Given the description of an element on the screen output the (x, y) to click on. 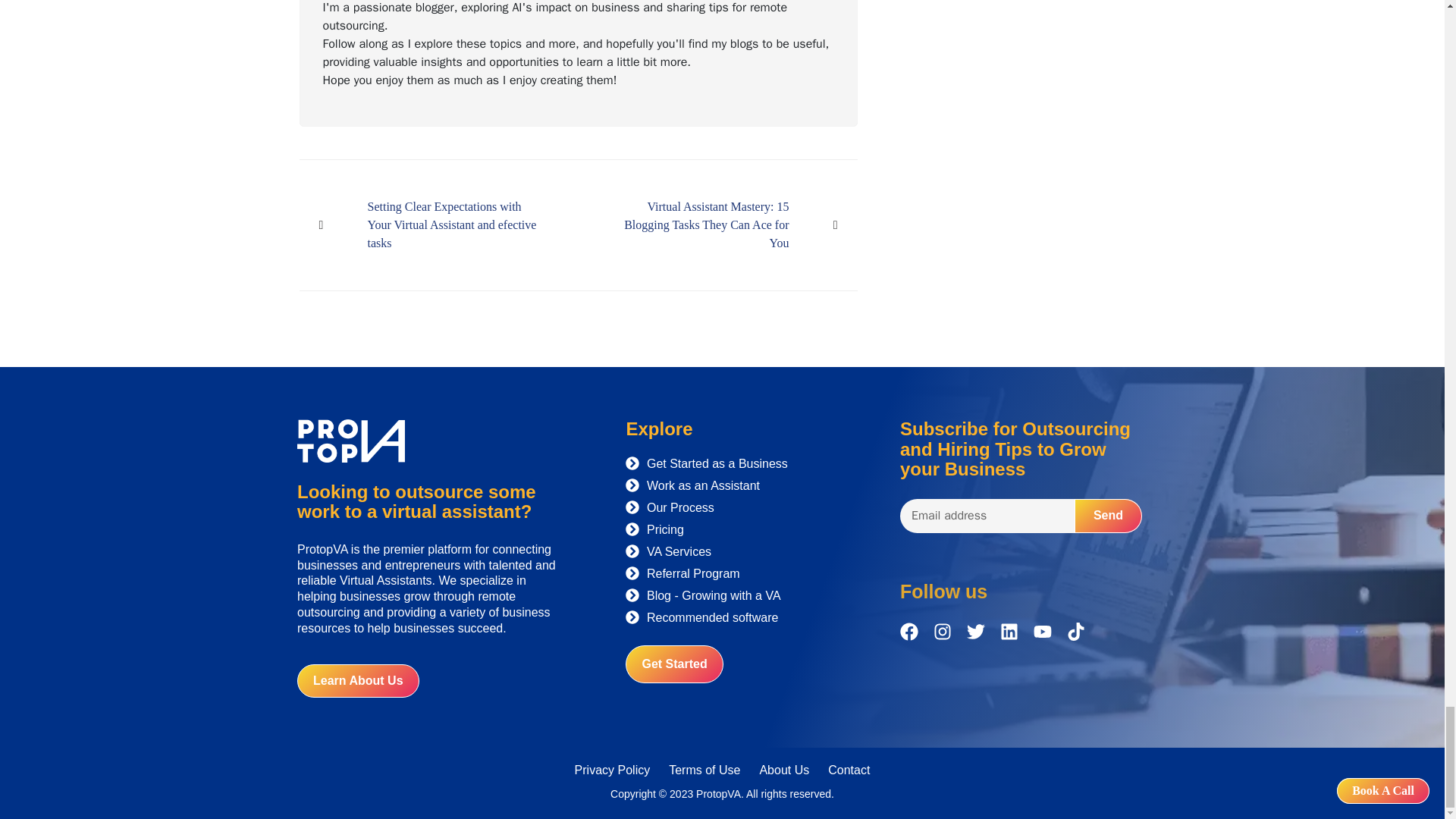
Send (1107, 515)
